Given the description of an element on the screen output the (x, y) to click on. 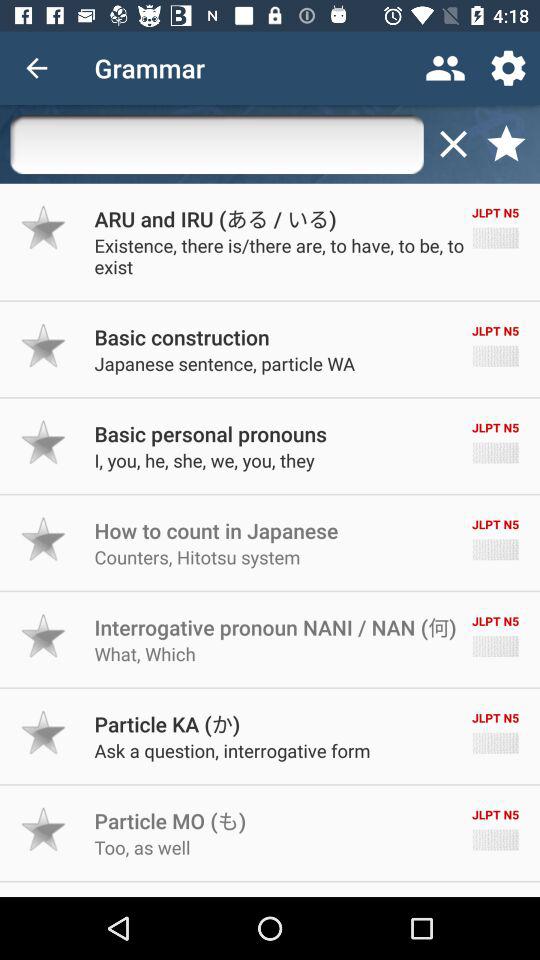
tap the icon below the basic construction icon (224, 363)
